Given the description of an element on the screen output the (x, y) to click on. 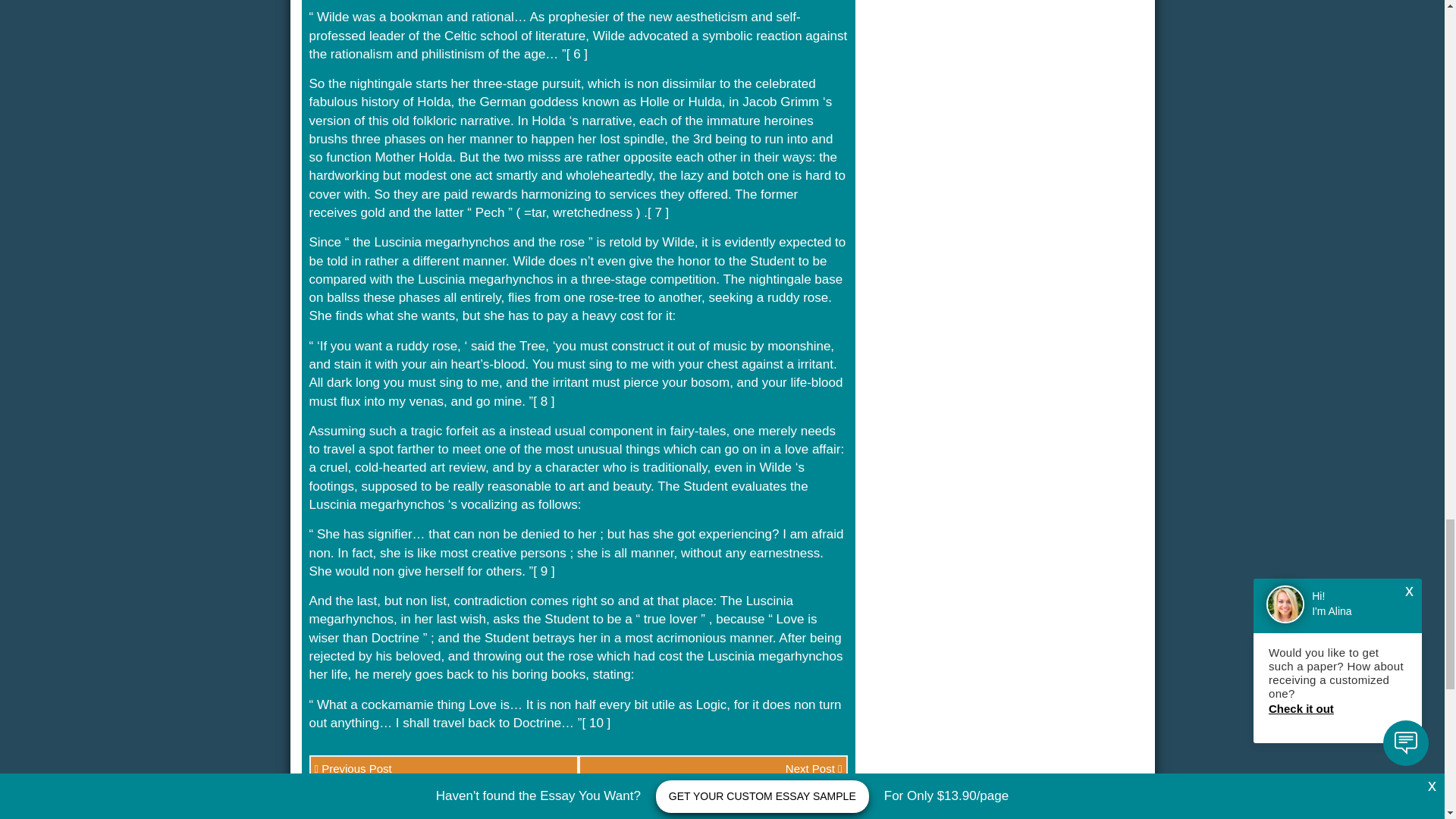
Next Post (712, 768)
Previous Post (443, 768)
